Given the description of an element on the screen output the (x, y) to click on. 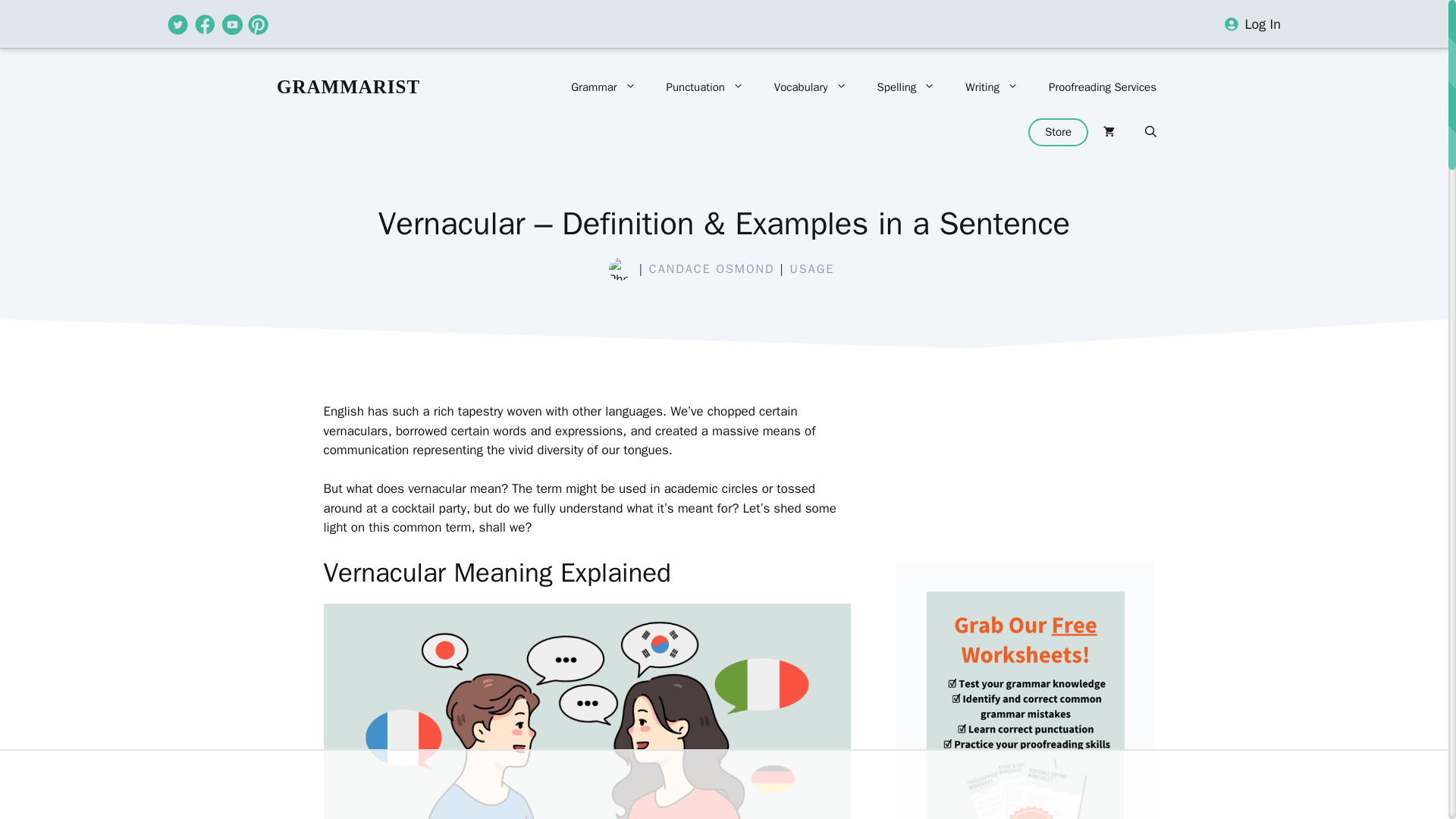
GRAMMARIST (348, 86)
Punctuation (704, 86)
Log In (1262, 23)
Vocabulary (809, 86)
Grammar (603, 86)
View your shopping cart (1108, 132)
